Given the description of an element on the screen output the (x, y) to click on. 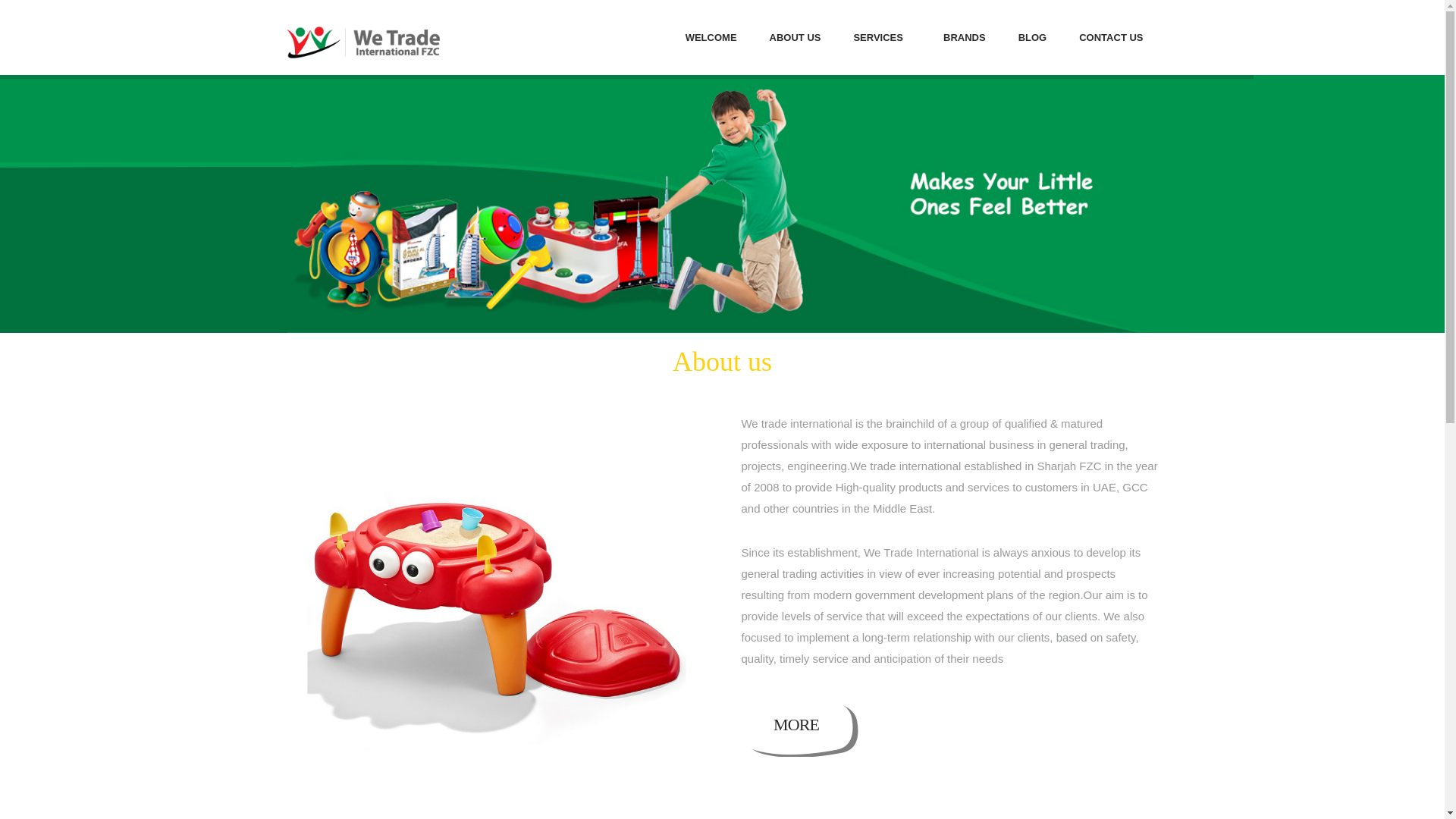
BLOG (794, 37)
BRANDS (1032, 37)
